Given the description of an element on the screen output the (x, y) to click on. 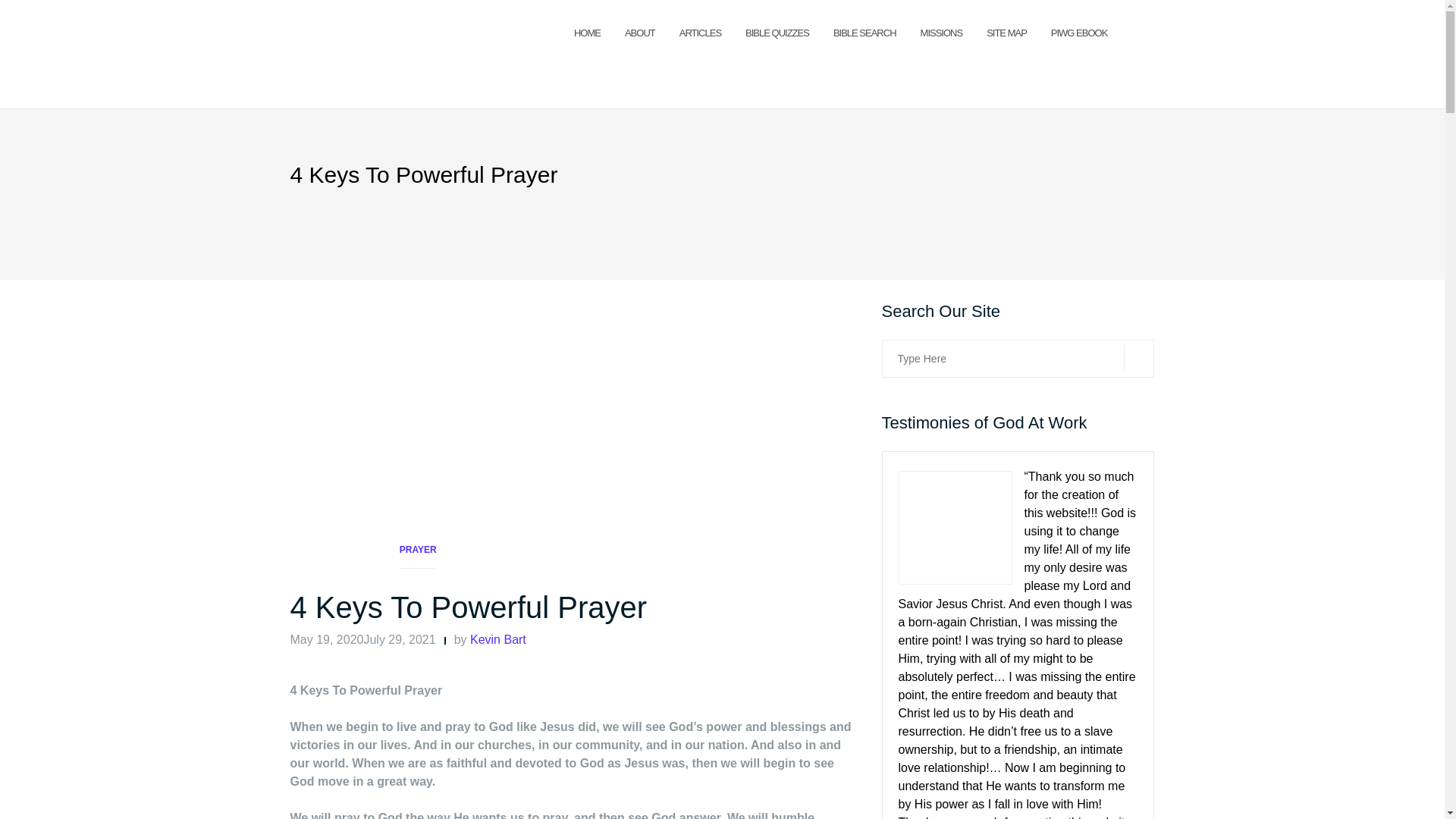
MISSIONS (941, 33)
ABOUT (639, 33)
4 Keys To Powerful Prayer (467, 607)
HOME (586, 33)
PIWG eBook (1079, 33)
ARTICLES (699, 33)
About (639, 33)
BIBLE QUIZZES (777, 33)
Site Map (1006, 33)
Home (586, 33)
Kevin Bart (497, 639)
Bible Search (864, 33)
BIBLE SEARCH (864, 33)
Missions (941, 33)
Articles (699, 33)
